Given the description of an element on the screen output the (x, y) to click on. 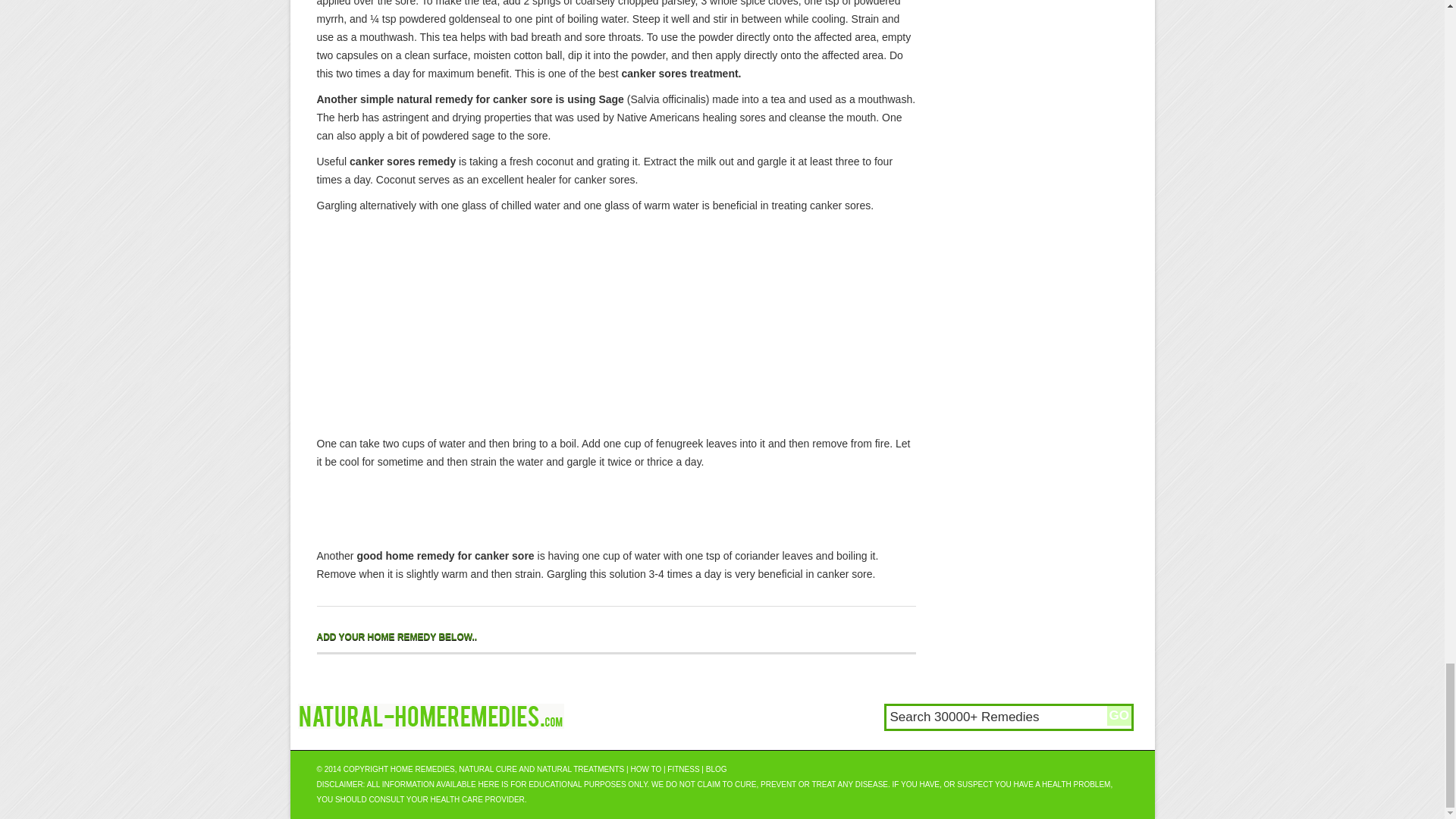
Go (1118, 715)
